Given the description of an element on the screen output the (x, y) to click on. 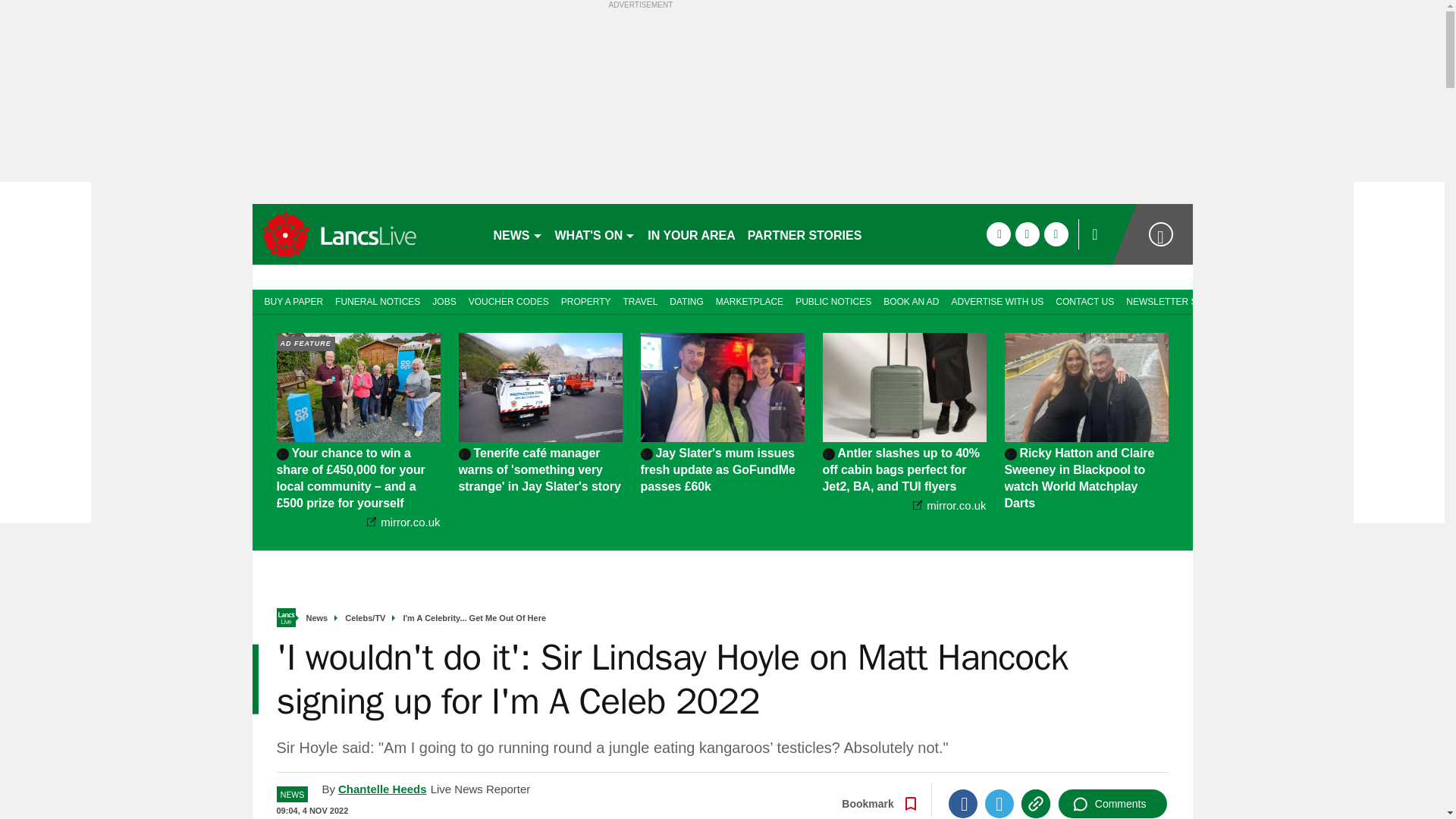
BOOK AN AD (910, 300)
PUBLIC NOTICES (833, 300)
FUNERAL NOTICES (377, 300)
VOUCHER CODES (508, 300)
PARTNER STORIES (804, 233)
PROPERTY (585, 300)
MARKETPLACE (749, 300)
twitter (1026, 233)
ADVERTISE WITH US (996, 300)
BUY A PAPER (290, 300)
JOBS (443, 300)
accrington (365, 233)
NEWS (517, 233)
TRAVEL (640, 300)
Twitter (999, 803)
